Given the description of an element on the screen output the (x, y) to click on. 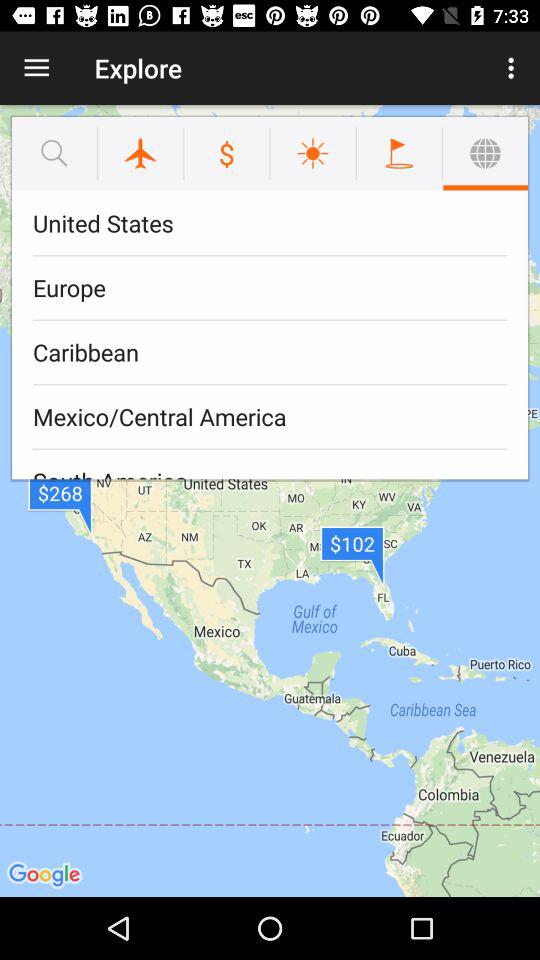
open the item next to explore (36, 68)
